Given the description of an element on the screen output the (x, y) to click on. 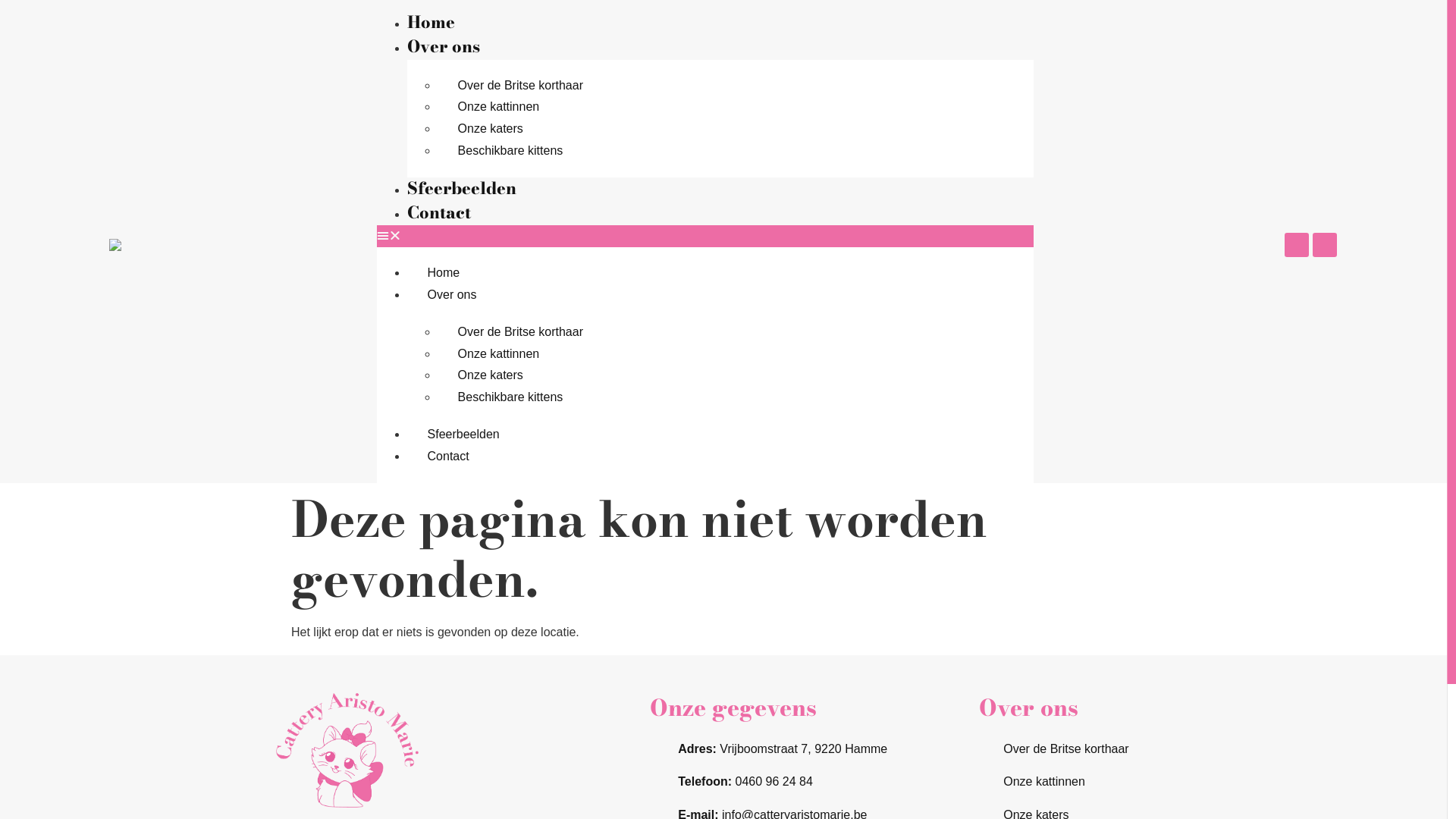
Contact Element type: text (448, 455)
Over de Britse korthaar Element type: text (1074, 749)
Home Element type: text (443, 272)
Contact Element type: text (438, 212)
Adres: Vrijboomstraat 7, 9220 Hamme Element type: text (810, 749)
Over de Britse korthaar Element type: text (520, 85)
Onze kattinnen Element type: text (1074, 782)
Beschikbare kittens Element type: text (510, 150)
Over ons Element type: text (452, 294)
Onze katers Element type: text (490, 374)
Sfeerbeelden Element type: text (463, 433)
Telefoon: 0460 96 24 84 Element type: text (810, 782)
Onze kattinnen Element type: text (498, 106)
Beschikbare kittens Element type: text (510, 396)
Over de Britse korthaar Element type: text (520, 331)
Sfeerbeelden Element type: text (461, 187)
Onze katers Element type: text (490, 128)
Onze kattinnen Element type: text (498, 353)
